Given the description of an element on the screen output the (x, y) to click on. 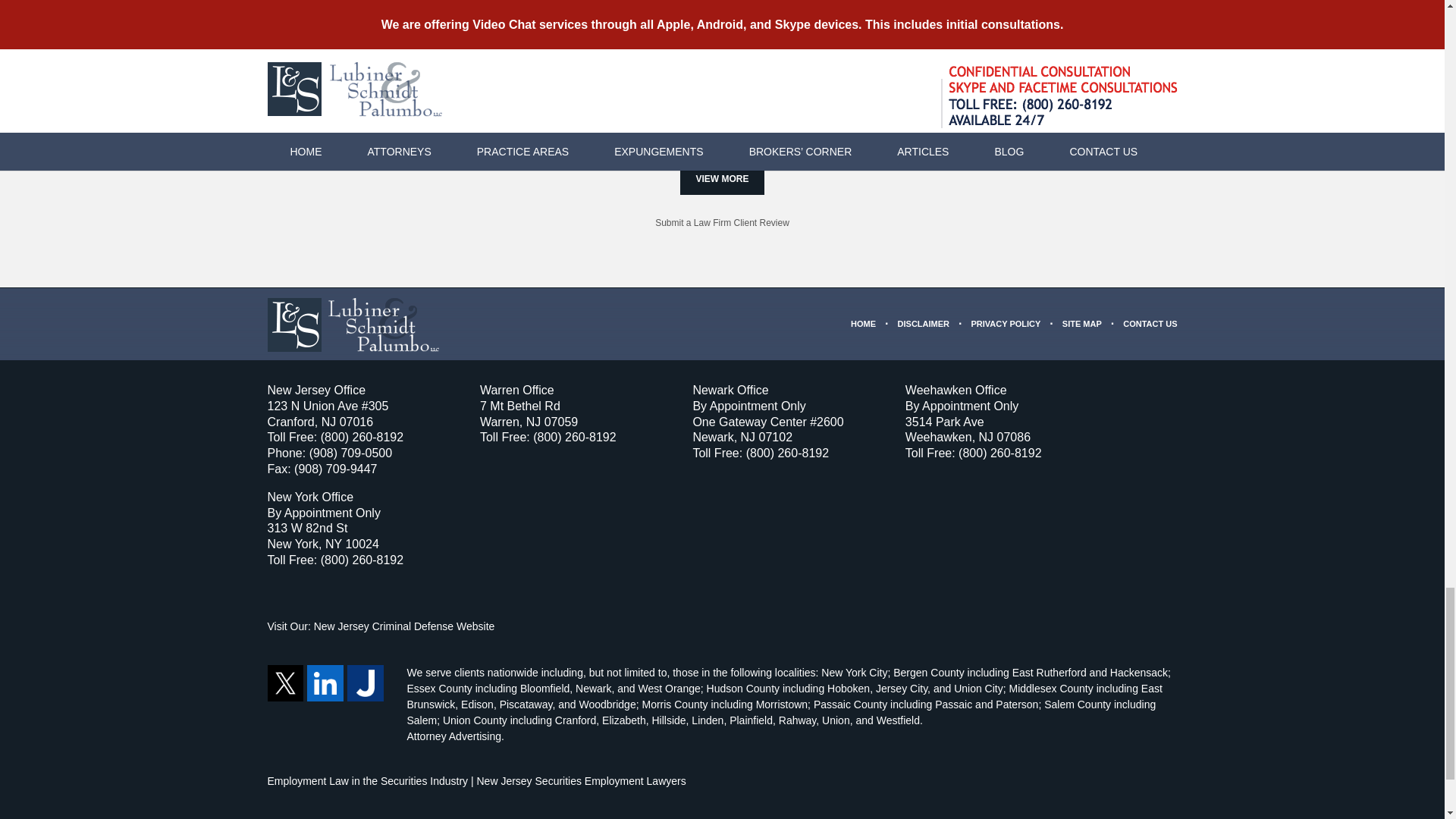
LinkedIn (325, 683)
Twitter (284, 683)
Justia (365, 683)
